Given the description of an element on the screen output the (x, y) to click on. 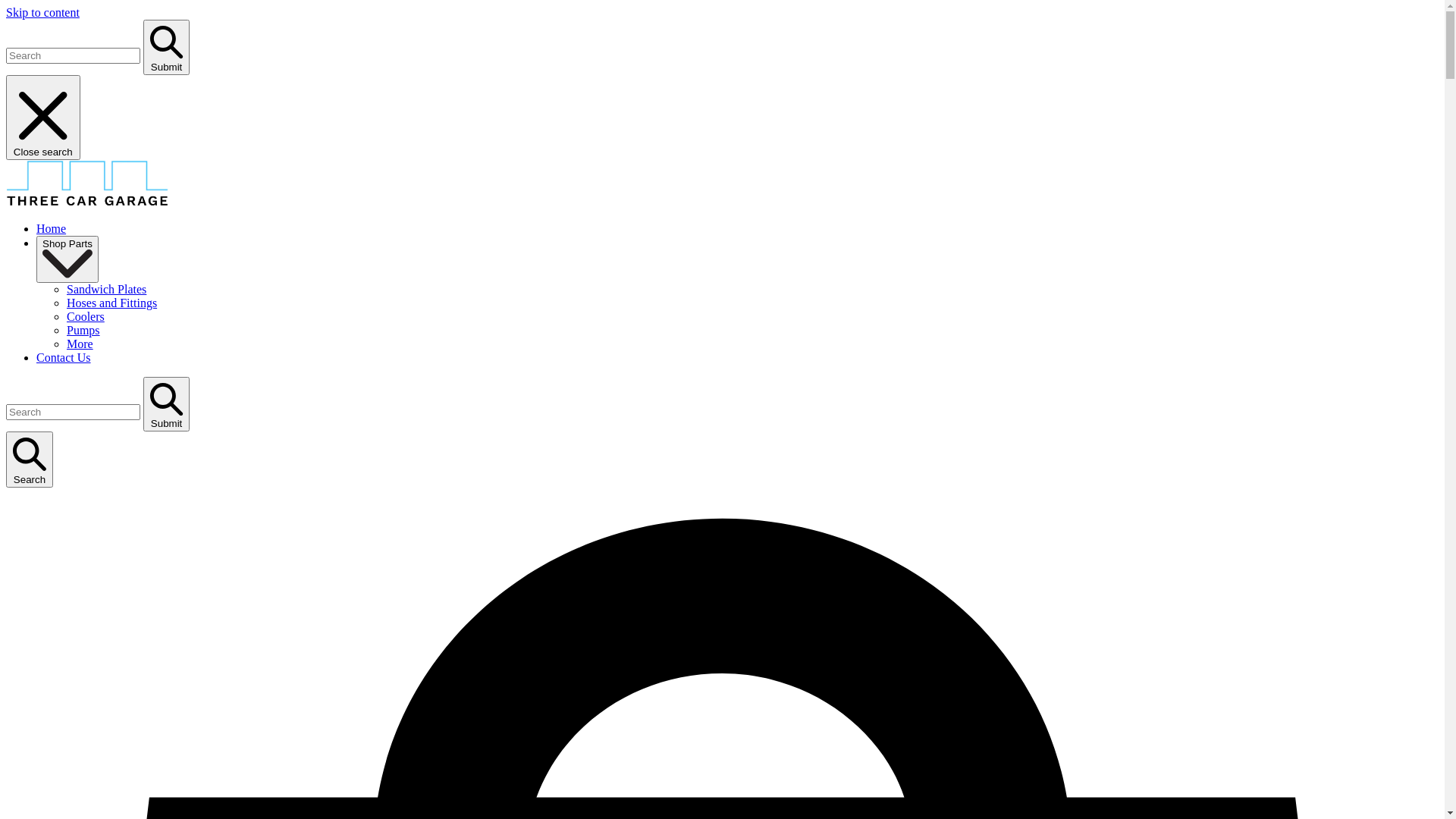
Coolers Element type: text (85, 316)
Search Element type: text (29, 459)
Sandwich Plates Element type: text (106, 288)
Submit Element type: text (166, 47)
Close search Element type: text (43, 117)
Contact Us Element type: text (63, 357)
Home Element type: text (50, 228)
More Element type: text (79, 343)
Pumps Element type: text (83, 329)
Skip to content Element type: text (42, 12)
Hoses and Fittings Element type: text (111, 302)
Submit Element type: text (166, 404)
